Given the description of an element on the screen output the (x, y) to click on. 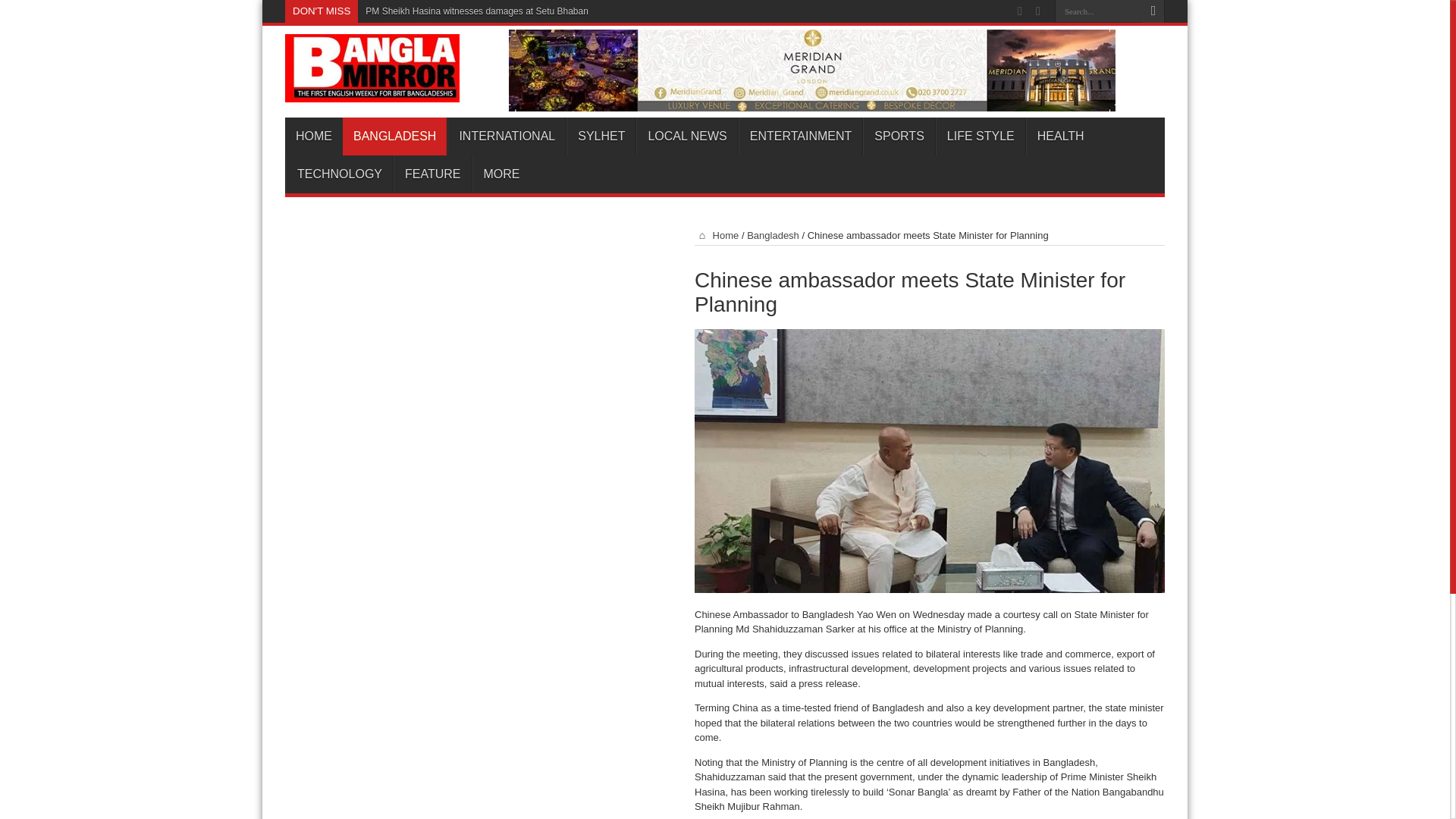
MORE (500, 174)
FEATURE (431, 174)
HEALTH (1060, 136)
Search (1152, 11)
TECHNOLOGY (339, 174)
Rss (1019, 11)
Facebook (1037, 11)
PM Sheikh Hasina witnesses damages at Setu Bhaban (476, 11)
Search... (1097, 11)
